Given the description of an element on the screen output the (x, y) to click on. 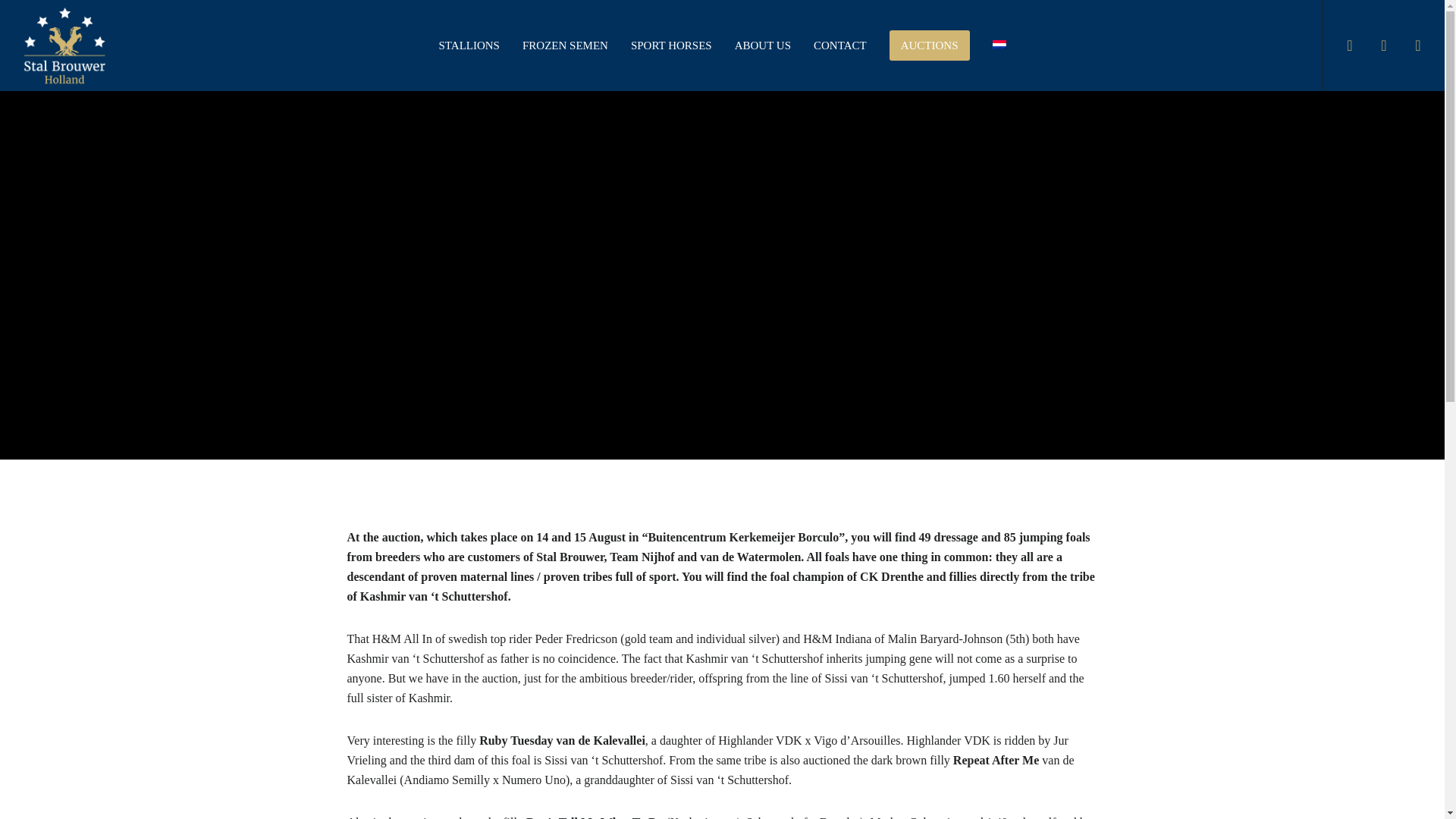
AUCTIONS (929, 45)
CONTACT (839, 45)
ABOUT US (762, 45)
FROZEN SEMEN (565, 45)
SPORT HORSES (671, 45)
STALLIONS (469, 45)
